Given the description of an element on the screen output the (x, y) to click on. 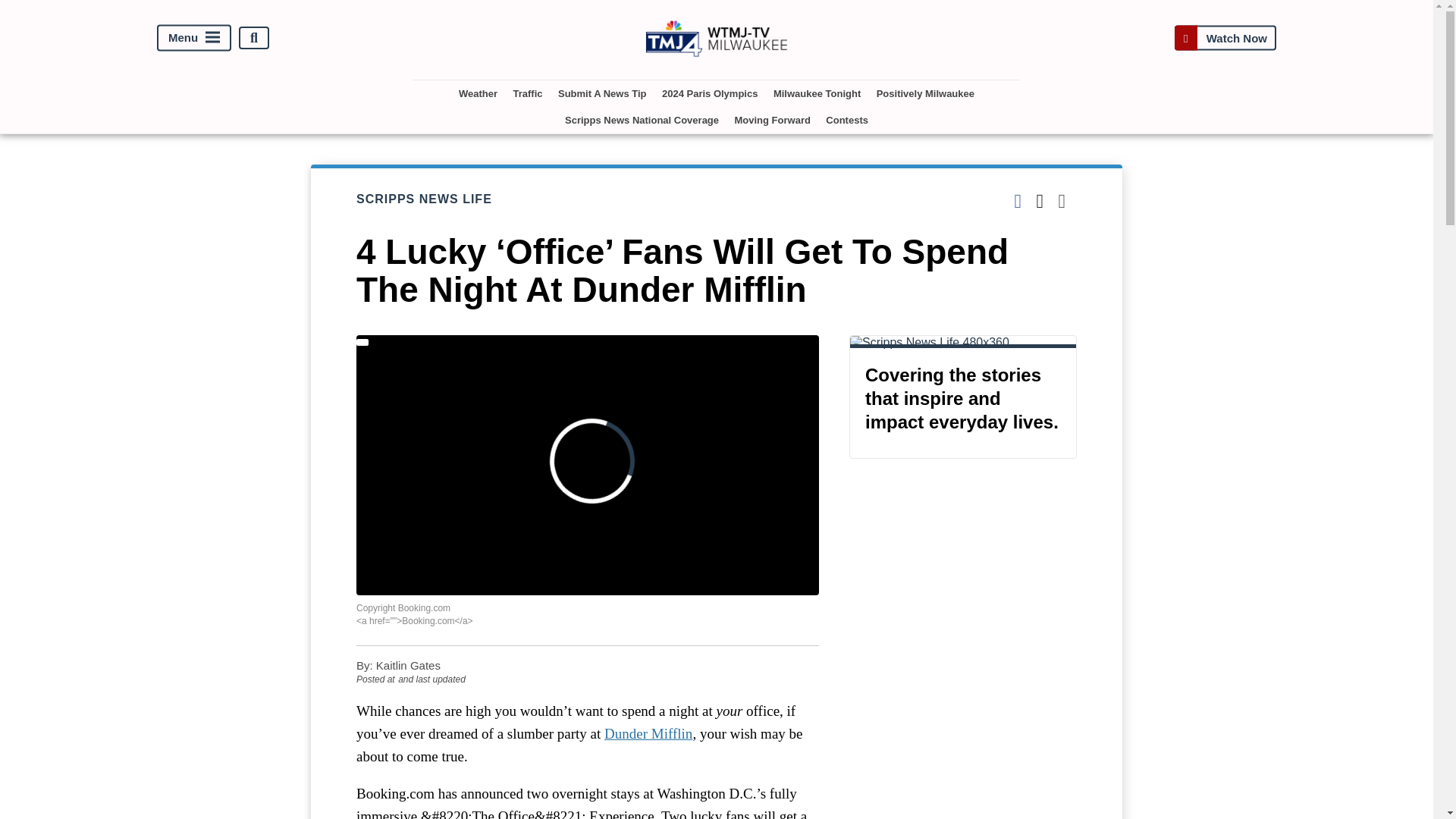
Watch Now (1224, 38)
Menu (194, 38)
